Given the description of an element on the screen output the (x, y) to click on. 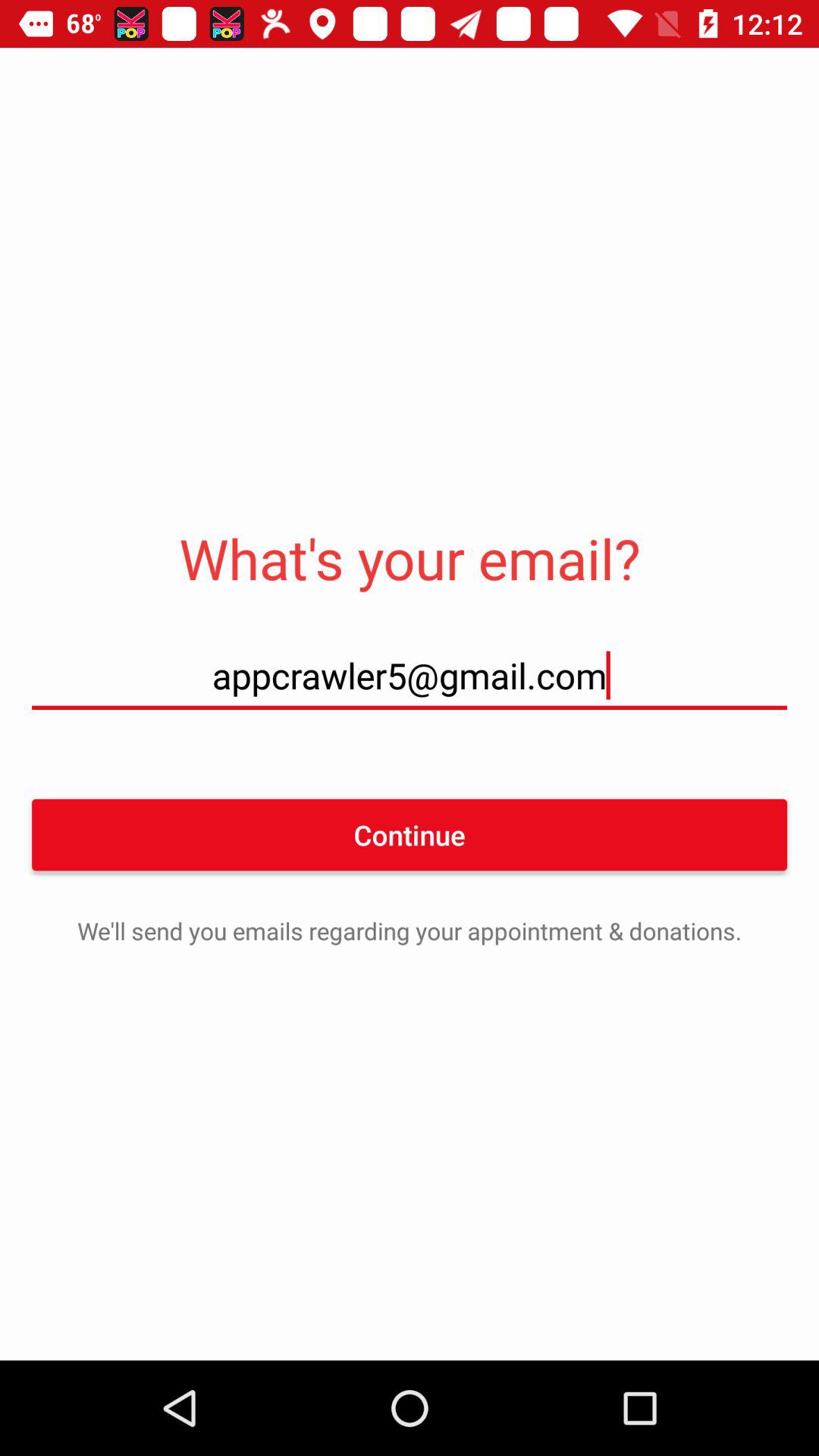
turn off the icon below appcrawler5@gmail.com (409, 834)
